Given the description of an element on the screen output the (x, y) to click on. 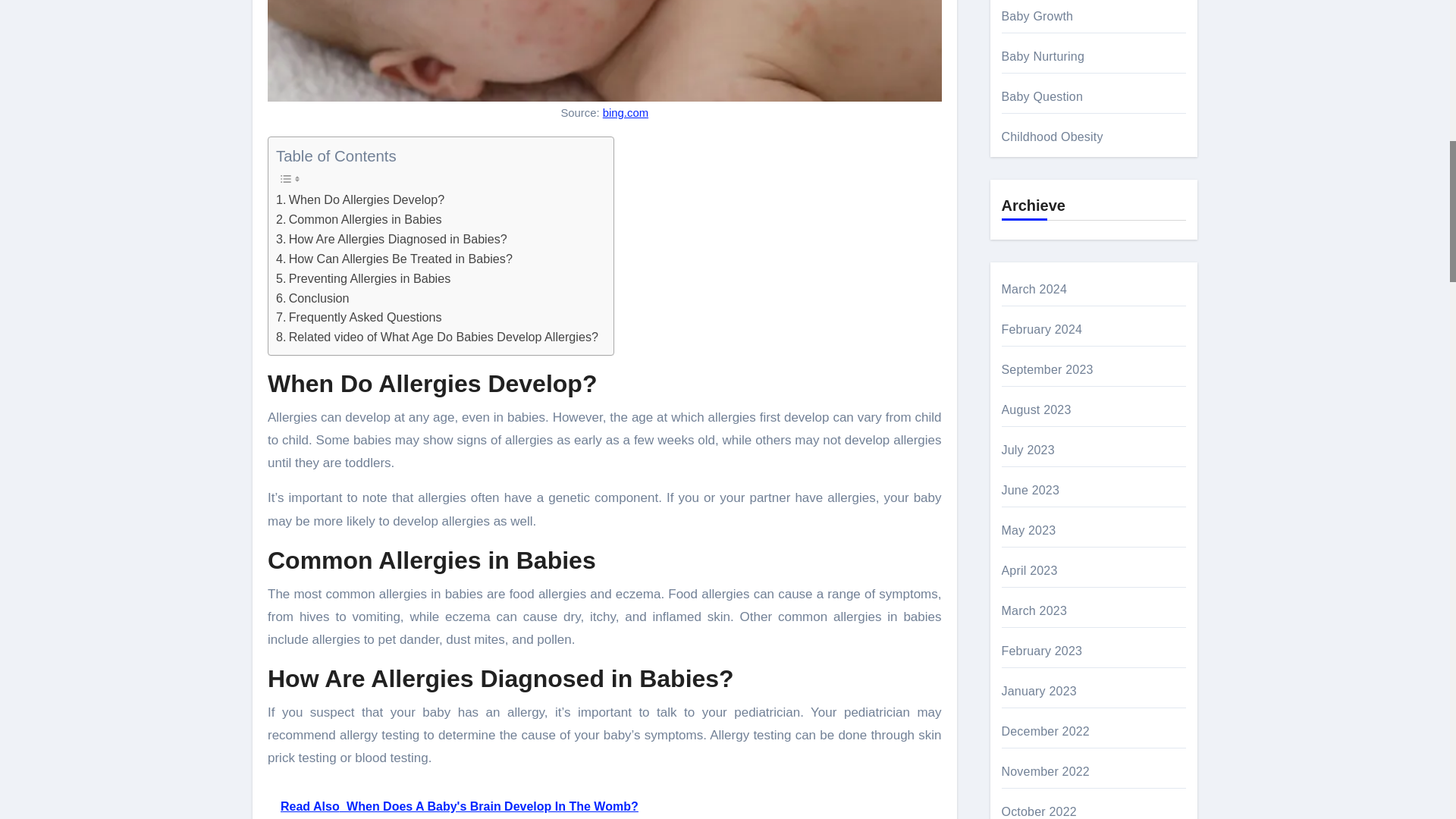
Frequently Asked Questions (359, 317)
Common Allergies in Babies (359, 219)
Read Also  When Does A Baby's Brain Develop In The Womb? (604, 800)
Frequently Asked Questions (359, 317)
Preventing Allergies in Babies (362, 279)
How Can Allergies Be Treated in Babies? (394, 259)
Preventing Allergies in Babies (362, 279)
Conclusion (312, 298)
Conclusion (312, 298)
Related video of What Age Do Babies Develop Allergies? (437, 337)
When Do Allergies Develop? (360, 199)
bing.com (624, 112)
How Can Allergies Be Treated in Babies? (394, 259)
When Do Allergies Develop? (360, 199)
Related video of What Age Do Babies Develop Allergies? (437, 337)
